Given the description of an element on the screen output the (x, y) to click on. 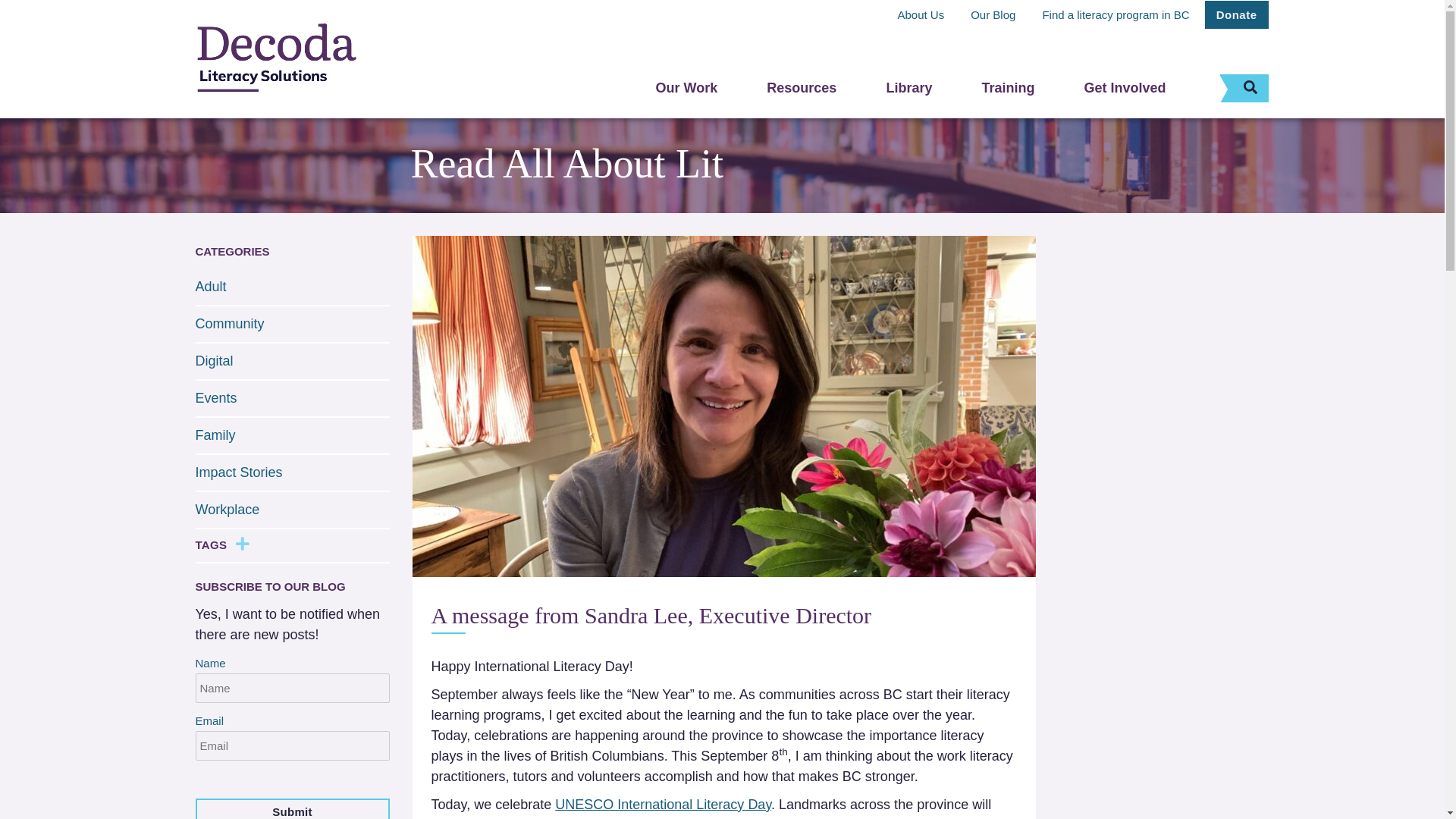
Search (1266, 86)
Digital (213, 360)
Events (216, 396)
Community (229, 322)
Find a literacy program in BC (1114, 14)
Get Involved (1124, 87)
Library (909, 87)
Read All About Lit (566, 163)
Family (215, 435)
Decoda Literacy Solutions (277, 58)
Our Blog (992, 14)
About Us (920, 14)
Our Work (687, 87)
Resources (801, 87)
